Given the description of an element on the screen output the (x, y) to click on. 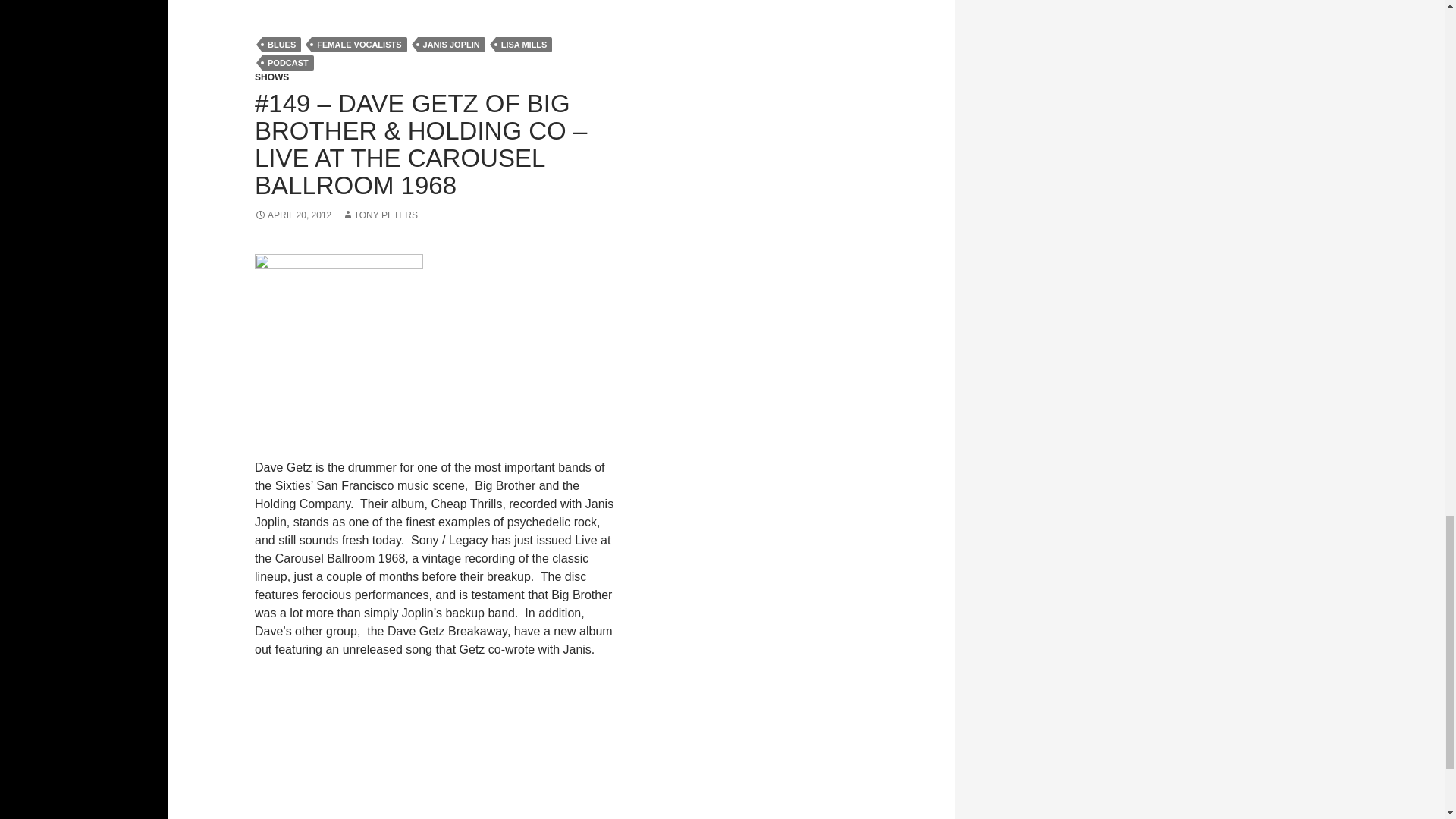
JANIS JOPLIN (450, 44)
TONY PETERS (379, 214)
APRIL 20, 2012 (292, 214)
PODCAST (288, 62)
SHOWS (271, 77)
FEMALE VOCALISTS (358, 44)
BLUES (281, 44)
LISA MILLS (524, 44)
